Given the description of an element on the screen output the (x, y) to click on. 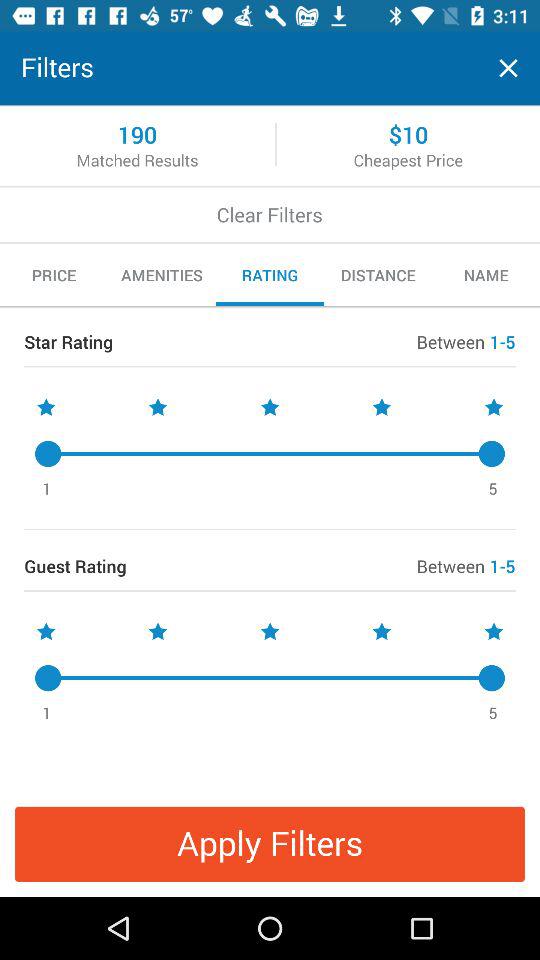
choose icon next to the filters icon (508, 67)
